Given the description of an element on the screen output the (x, y) to click on. 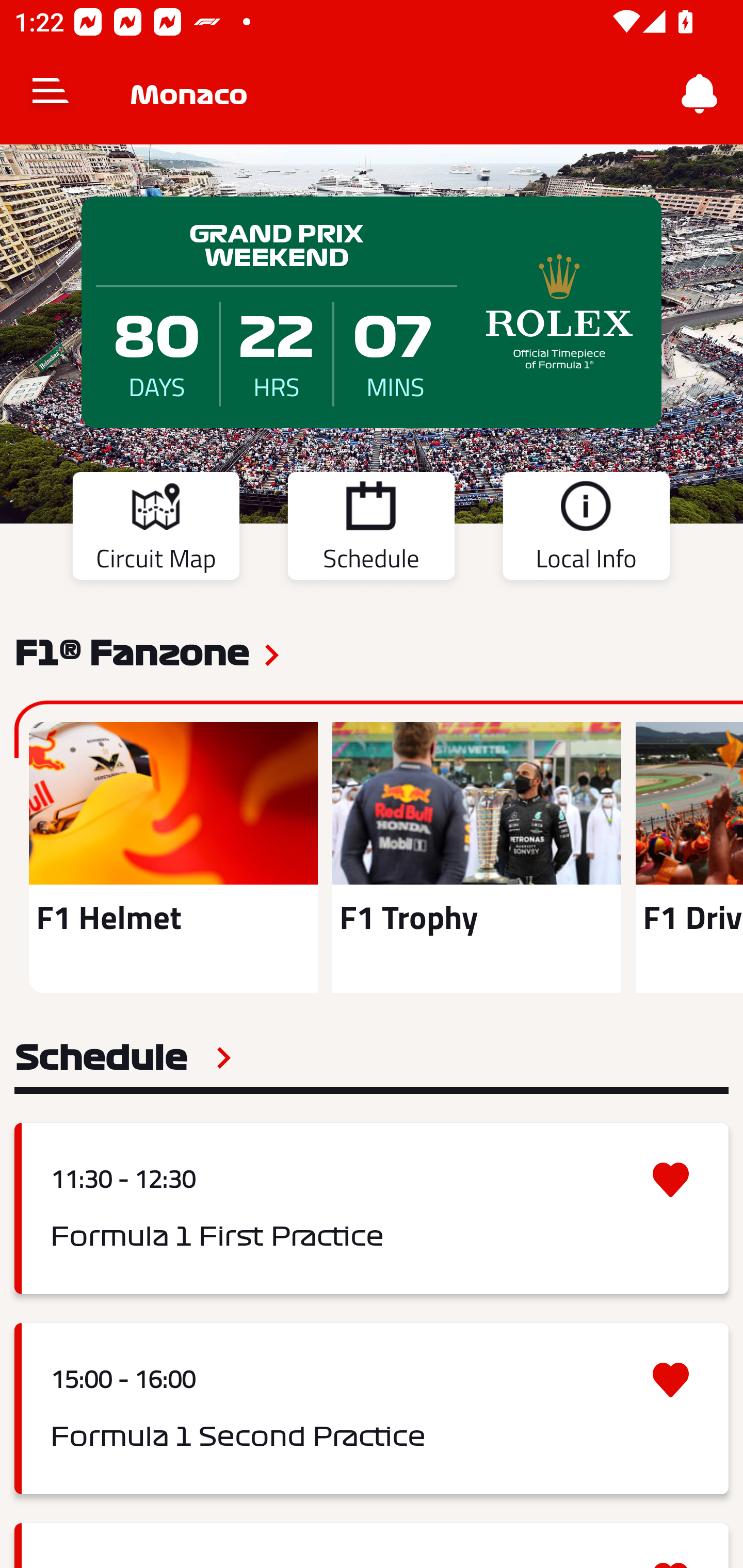
Navigate up (50, 93)
Notifications (699, 93)
Circuit Map (155, 528)
Schedule (370, 528)
Local Info (586, 528)
F1® Fanzone (131, 651)
F1 Helmet (173, 857)
F1 Trophy (476, 857)
Schedule (122, 1057)
11:30 - 12:30 Formula 1 First Practice (371, 1207)
15:00 - 16:00 Formula 1 Second Practice (371, 1408)
